Given the description of an element on the screen output the (x, y) to click on. 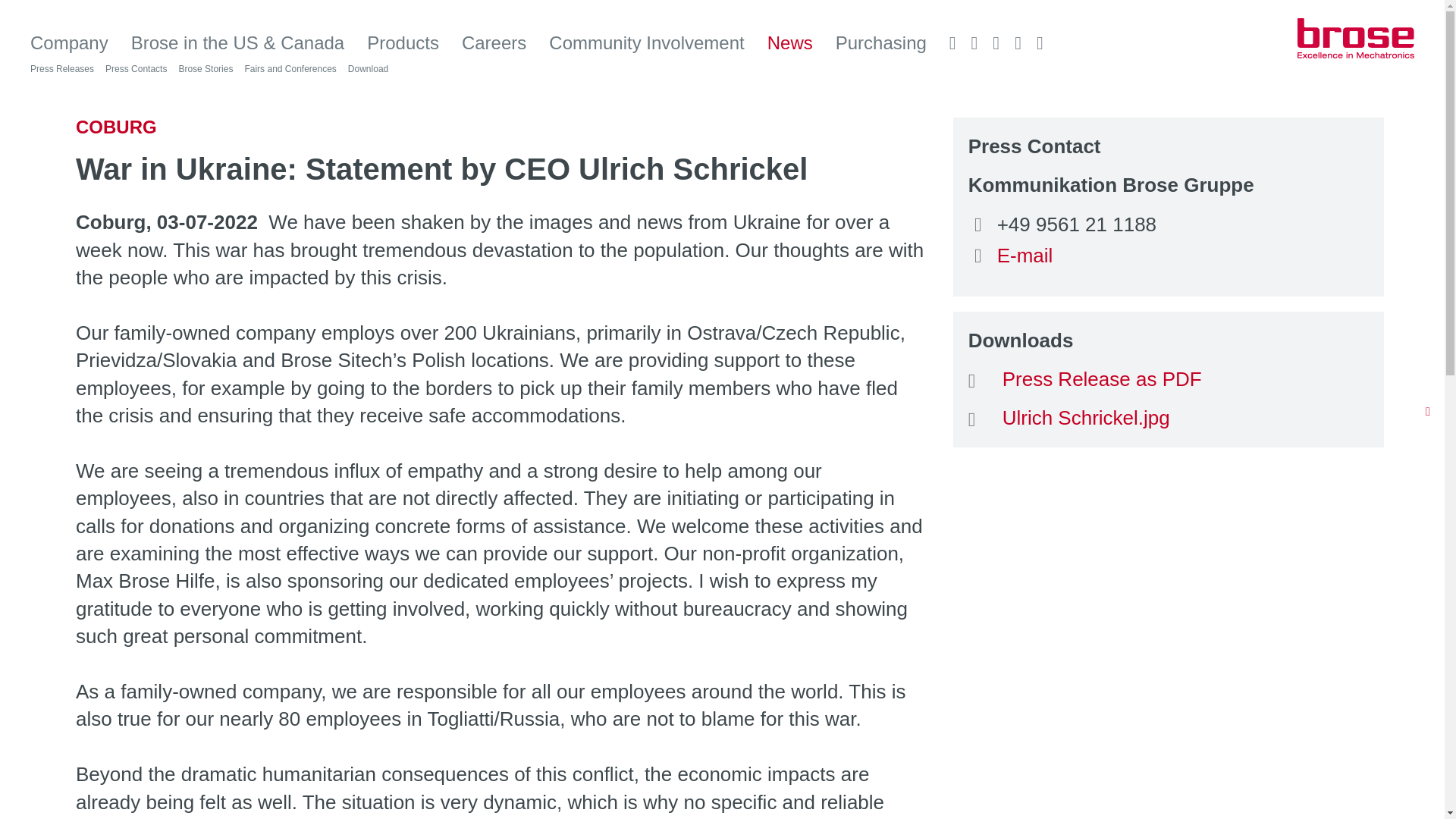
Company (68, 43)
Products (402, 43)
